Given the description of an element on the screen output the (x, y) to click on. 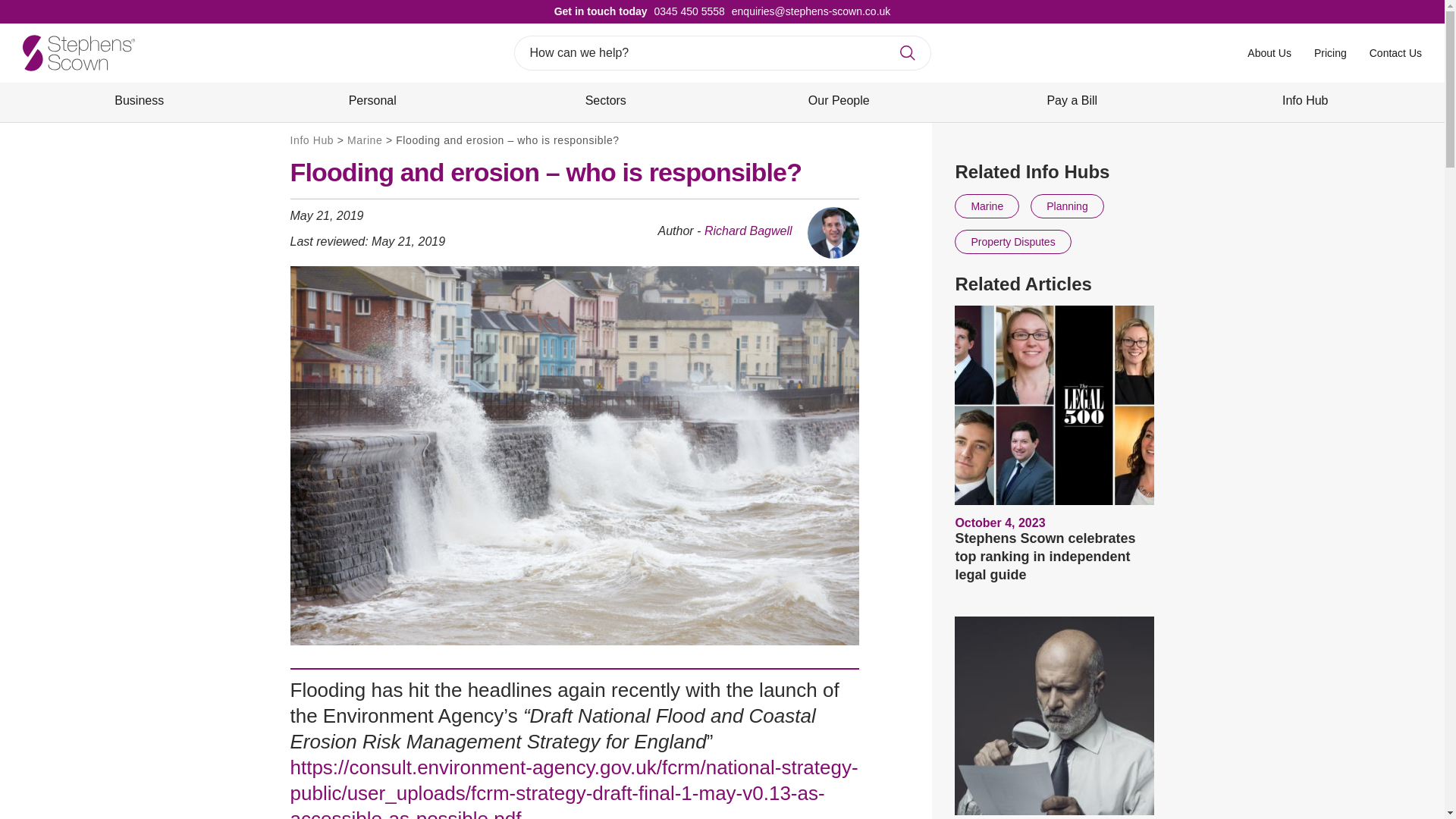
Posts by Richard Bagwell (748, 230)
0345 450 5558 (686, 10)
Contact Us (1396, 52)
About Us (1269, 52)
Go to the Marine Info hub Category archives. (364, 140)
Pricing (1330, 52)
Go to the Info Hub Info hub Category archives. (311, 140)
